Given the description of an element on the screen output the (x, y) to click on. 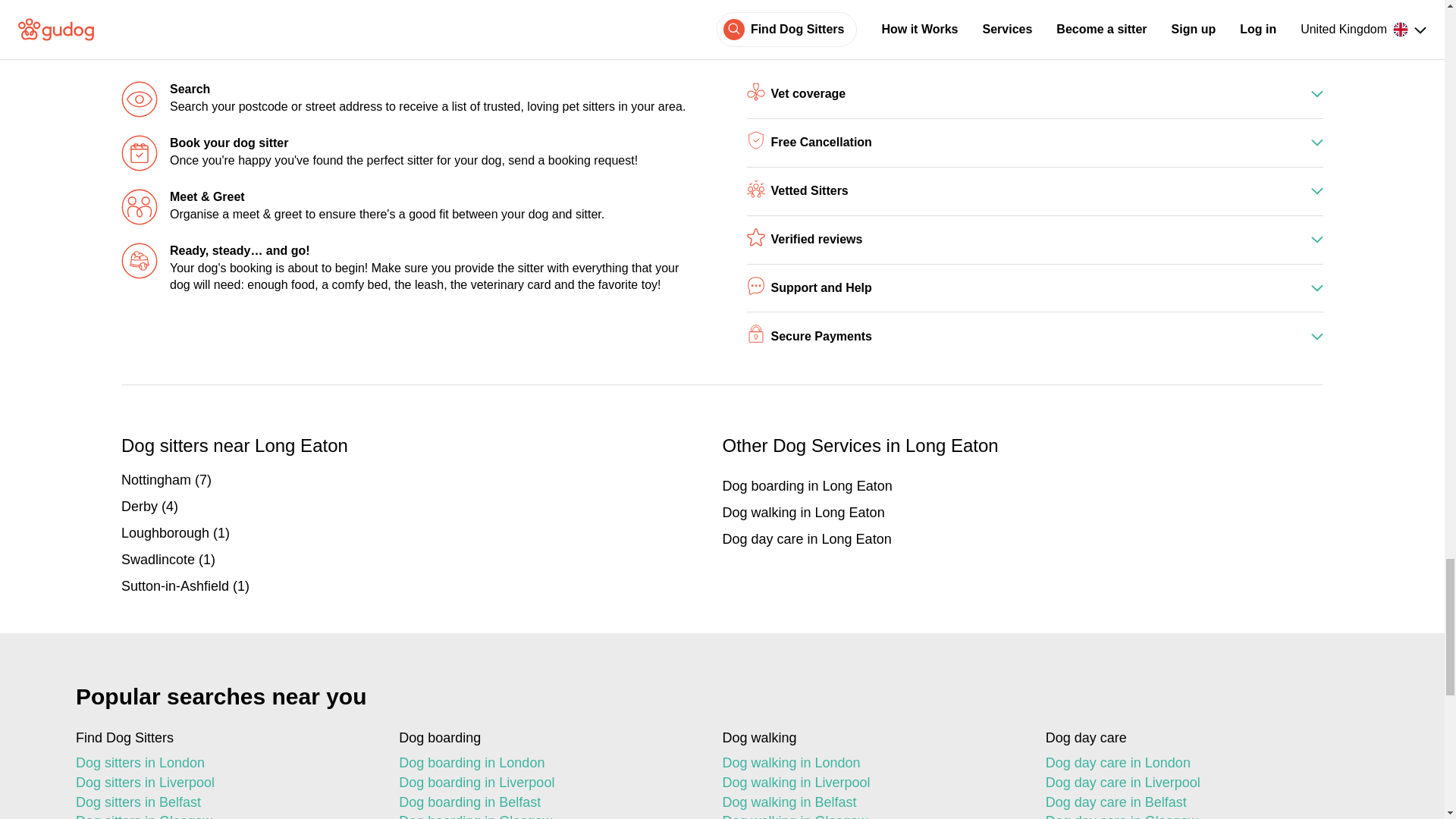
Dog sitters in Belfast (224, 803)
Dog boarding in London (547, 763)
Dog boarding in Long Eaton (1022, 485)
Dog boarding in Glasgow (547, 815)
Dog day care in Long Eaton (1022, 539)
Dog sitters in Glasgow (224, 815)
Dog sitters in Glasgow (224, 815)
Dog boarding Derby (421, 506)
Dog boarding in Liverpool (547, 783)
Dog sitters in Liverpool (224, 783)
